Given the description of an element on the screen output the (x, y) to click on. 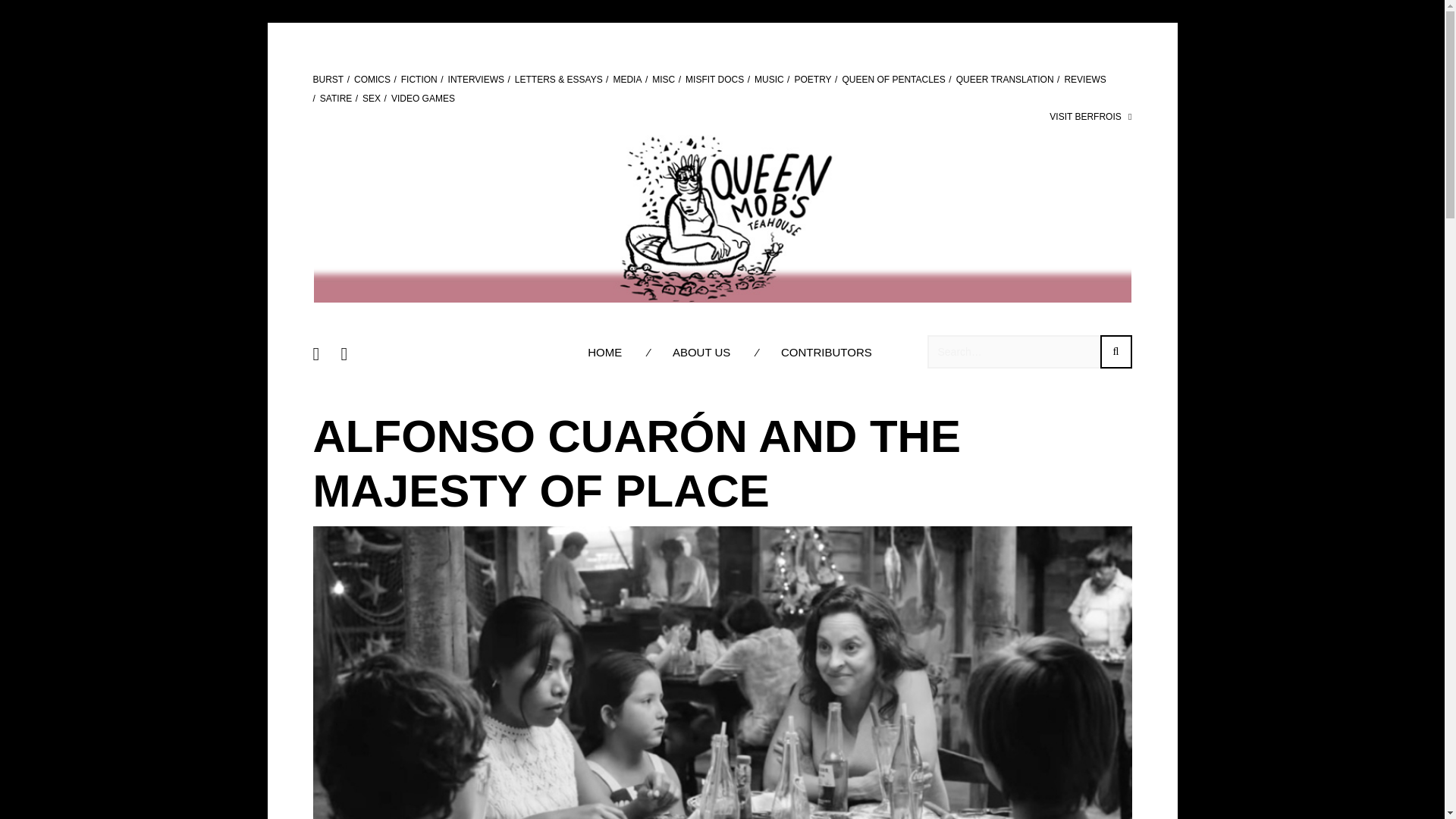
SATIRE (336, 98)
MEDIA (627, 79)
HOME (604, 351)
QUEEN OF PENTACLES (892, 79)
ABOUT US (701, 351)
BURST (328, 79)
FICTION (419, 79)
VIDEO GAMES (422, 98)
CONTRIBUTORS (826, 351)
